Given the description of an element on the screen output the (x, y) to click on. 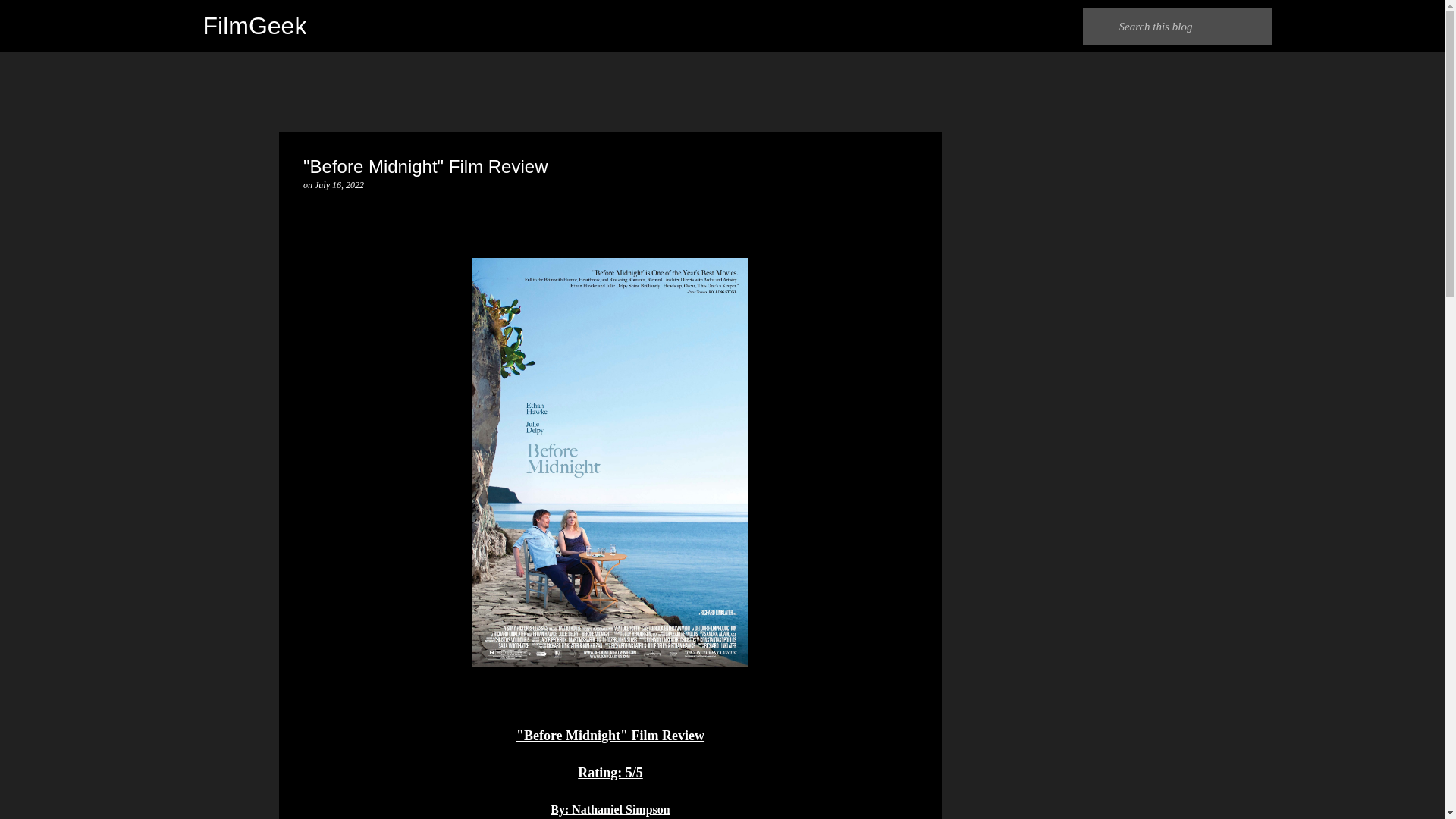
FilmGeek (255, 25)
July 16, 2022 (339, 184)
permanent link (339, 184)
